Given the description of an element on the screen output the (x, y) to click on. 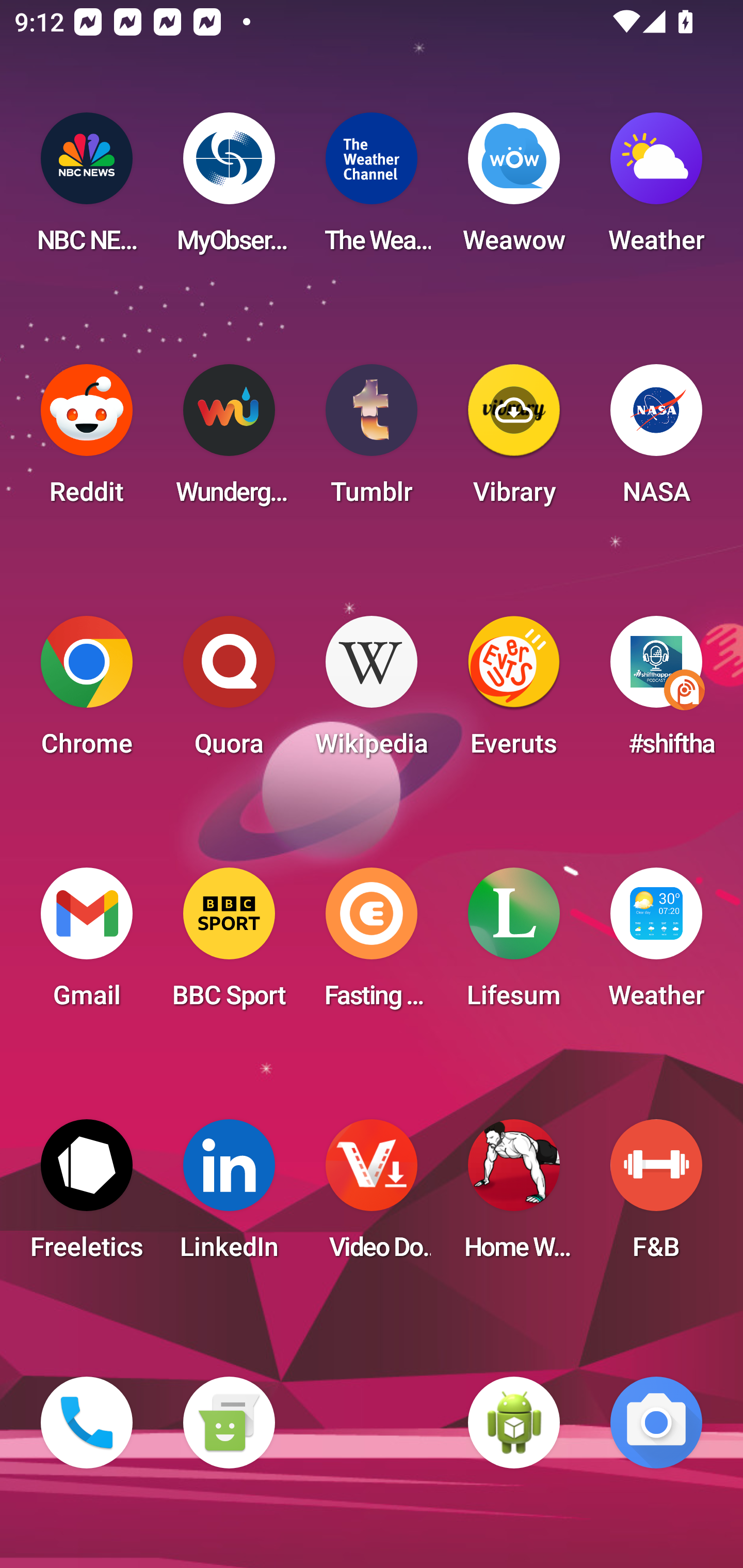
NBC NEWS (86, 188)
MyObservatory (228, 188)
The Weather Channel (371, 188)
Weawow (513, 188)
Weather (656, 188)
Reddit (86, 440)
Wunderground (228, 440)
Tumblr (371, 440)
Vibrary (513, 440)
NASA (656, 440)
Chrome (86, 692)
Quora (228, 692)
Wikipedia (371, 692)
Everuts (513, 692)
#shifthappens in the Digital Workplace Podcast (656, 692)
Gmail (86, 943)
BBC Sport (228, 943)
Fasting Coach (371, 943)
Lifesum (513, 943)
Weather (656, 943)
Freeletics (86, 1195)
LinkedIn (228, 1195)
Video Downloader & Ace Player (371, 1195)
Home Workout (513, 1195)
F&B (656, 1195)
Phone (86, 1422)
Messaging (228, 1422)
WebView Browser Tester (513, 1422)
Camera (656, 1422)
